Given the description of an element on the screen output the (x, y) to click on. 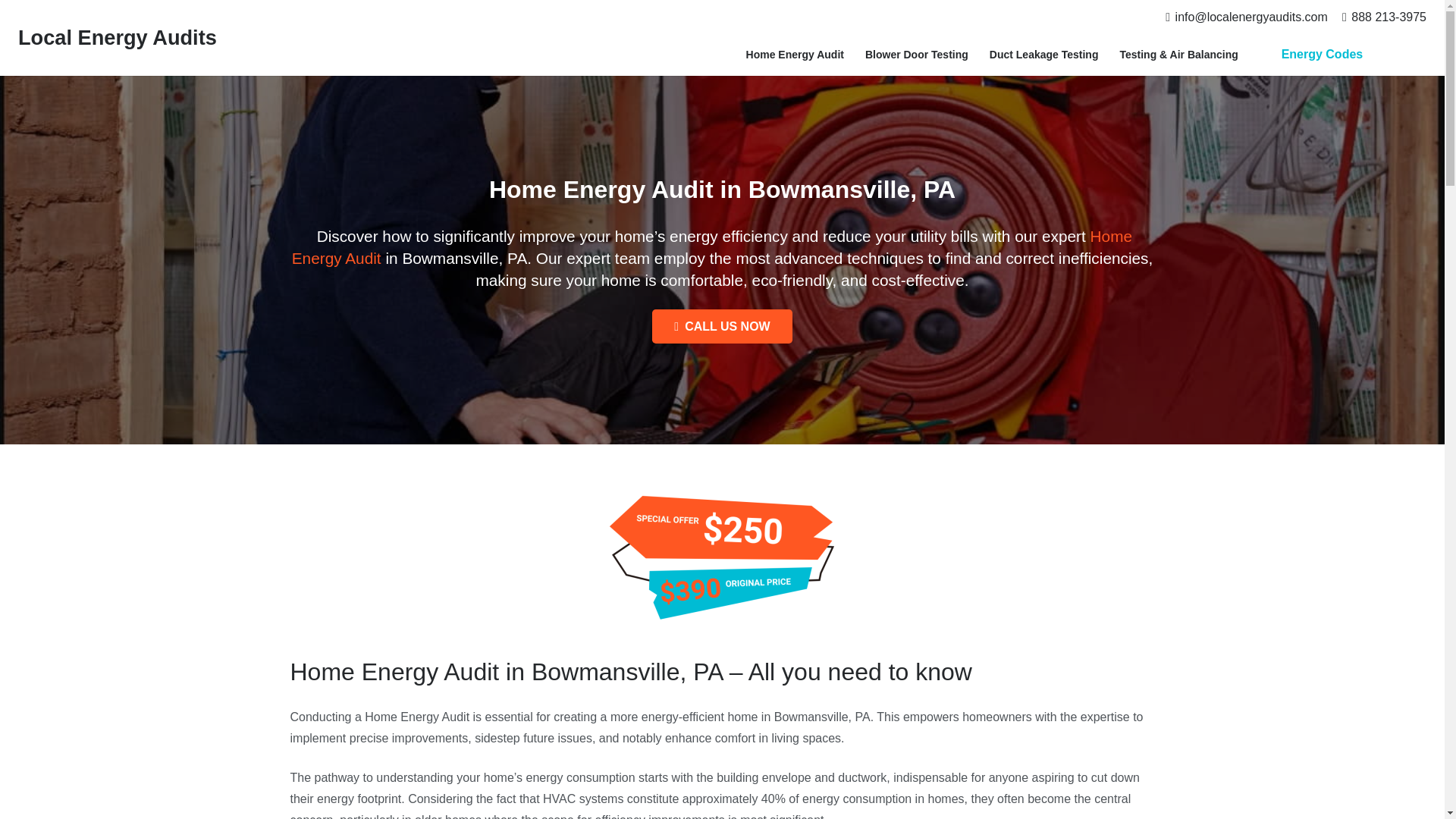
Blower Door Testing (916, 54)
888 213-3975 (1384, 16)
Local Energy Audits (116, 37)
Energy Codes (1321, 54)
Home Energy Audit (712, 246)
CALL US NOW (722, 326)
Home Energy Audit (794, 54)
Duct Leakage Testing (1043, 54)
